Given the description of an element on the screen output the (x, y) to click on. 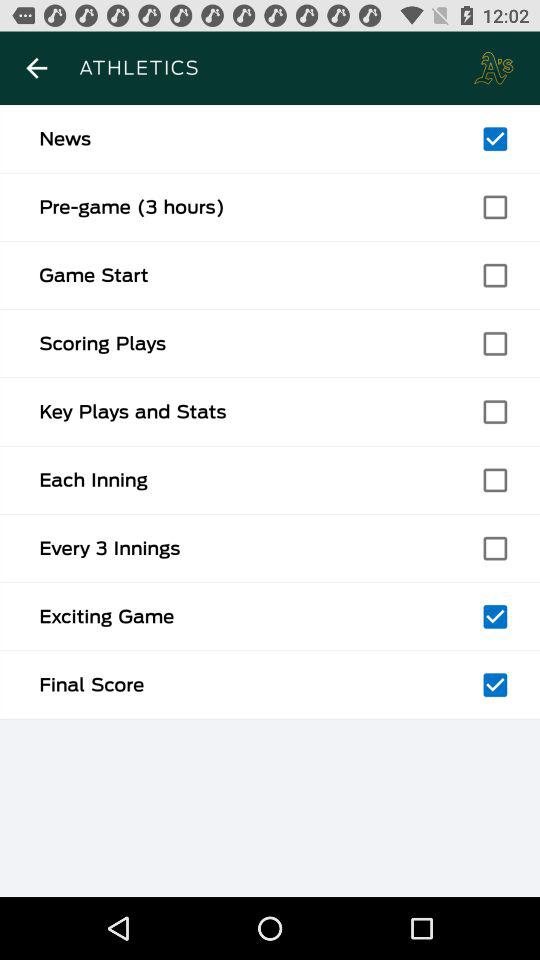
select filter (495, 616)
